Given the description of an element on the screen output the (x, y) to click on. 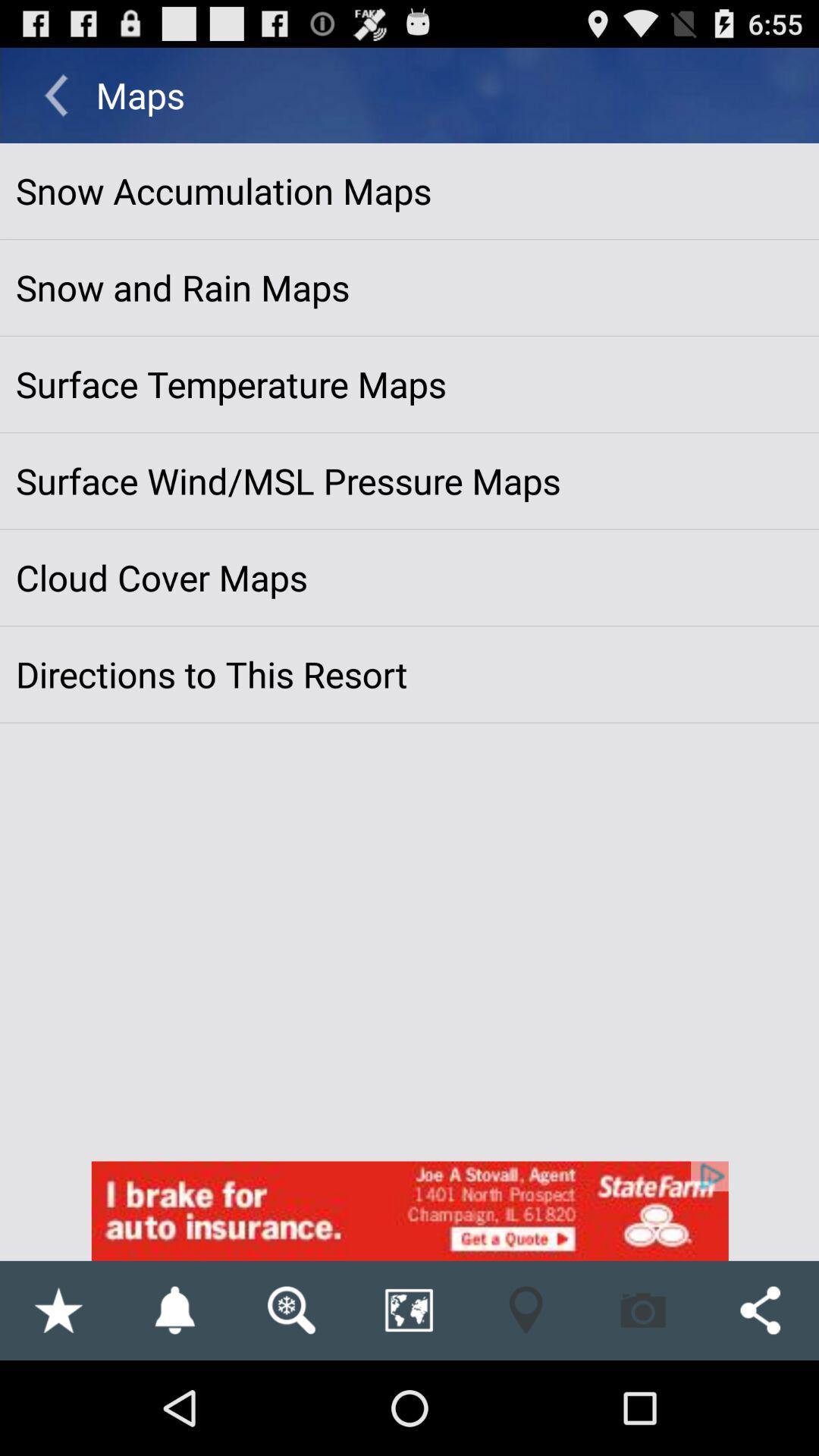
open advertisement (409, 1210)
